Given the description of an element on the screen output the (x, y) to click on. 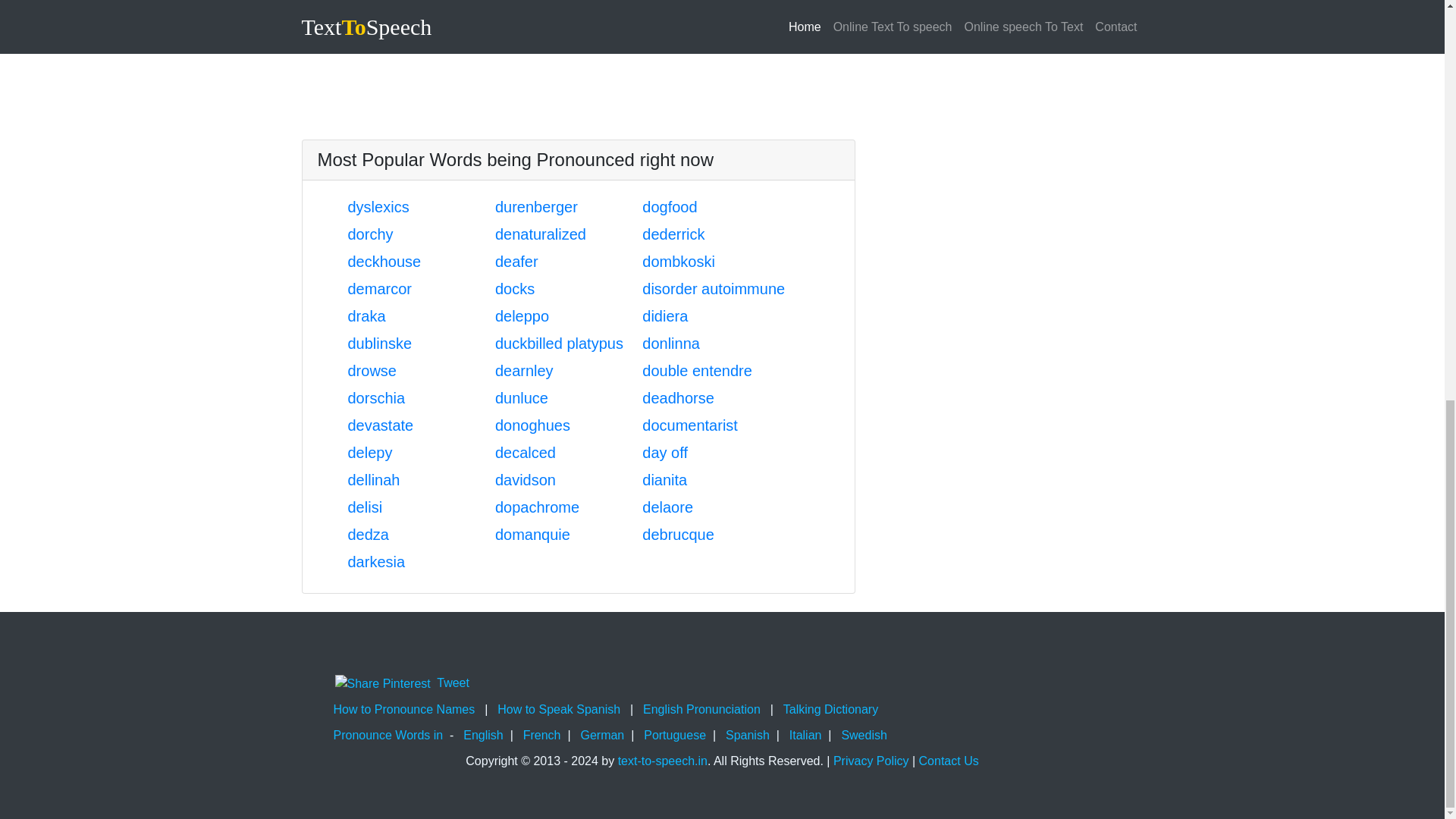
double entendre (697, 370)
How to say dyslexics (378, 207)
donlinna (671, 343)
How to say deleppo (521, 315)
How to say dombkoski (678, 261)
How to say deafer (516, 261)
How to say duckbilled platypus (559, 343)
didiera (664, 315)
dublinske (379, 343)
How to say dogfood (669, 207)
How to say dublinske (379, 343)
dombkoski (678, 261)
durenberger (536, 207)
duckbilled platypus (559, 343)
How to say durenberger (536, 207)
